Given the description of an element on the screen output the (x, y) to click on. 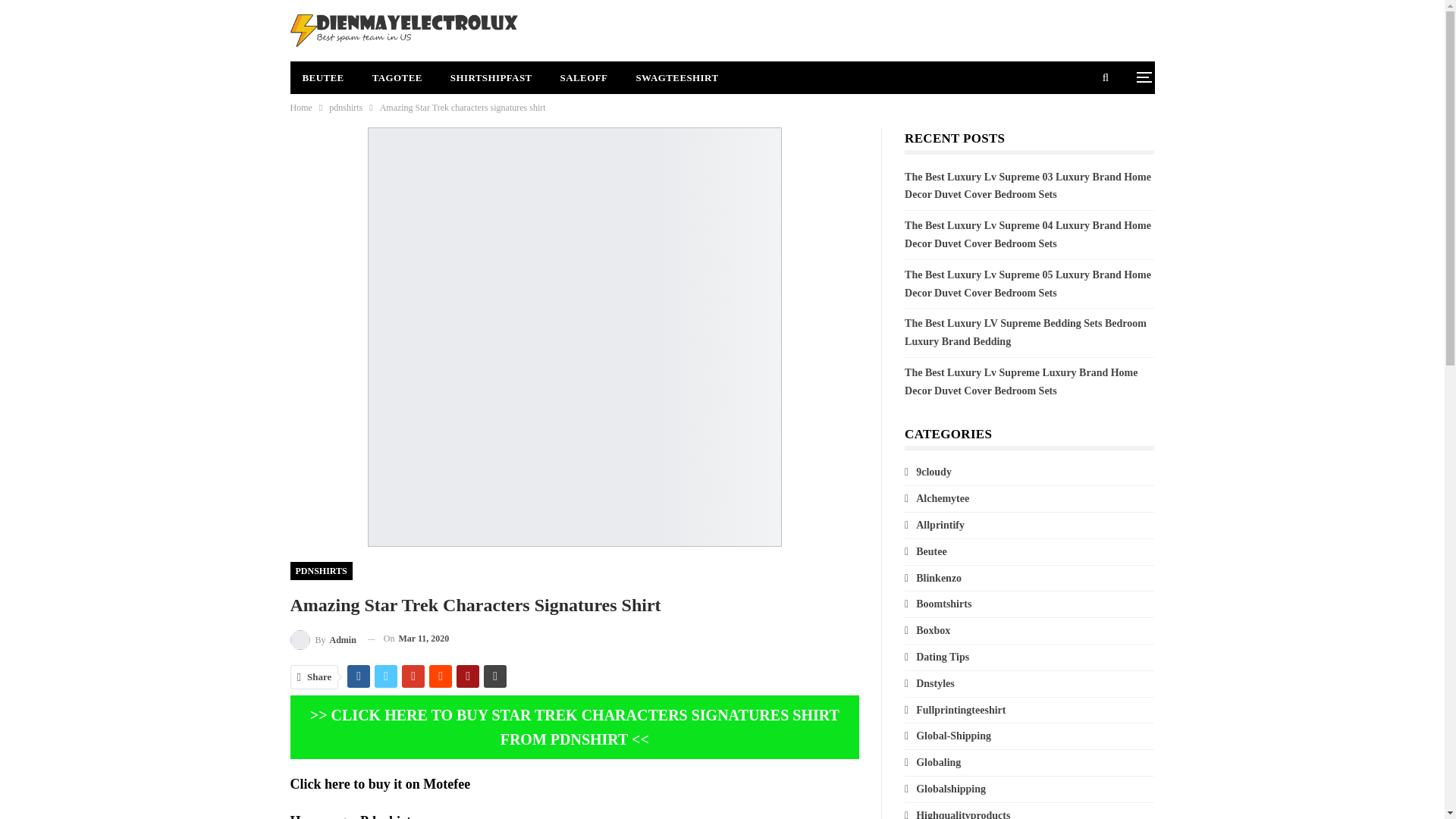
Browse Author Articles (322, 638)
Home (300, 107)
SALEOFF (584, 77)
SHIRTSHIPFAST (491, 77)
By Admin (322, 638)
Pdnshirt (384, 816)
BEUTEE (322, 77)
pdnshirts (345, 107)
SWAGTEESHIRT (676, 77)
TAGOTEE (396, 77)
